Given the description of an element on the screen output the (x, y) to click on. 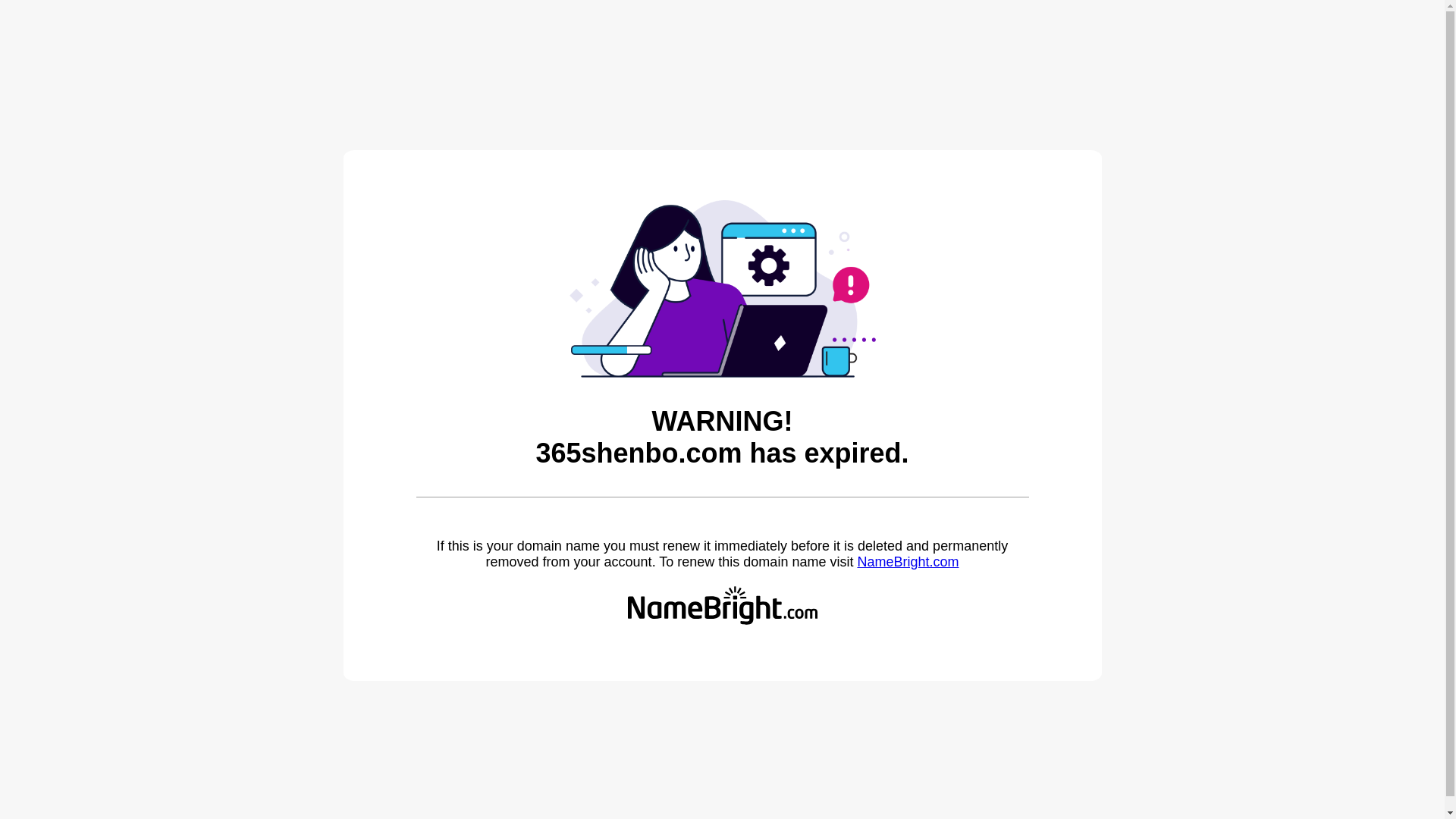
NameBright.com Element type: text (907, 561)
